Given the description of an element on the screen output the (x, y) to click on. 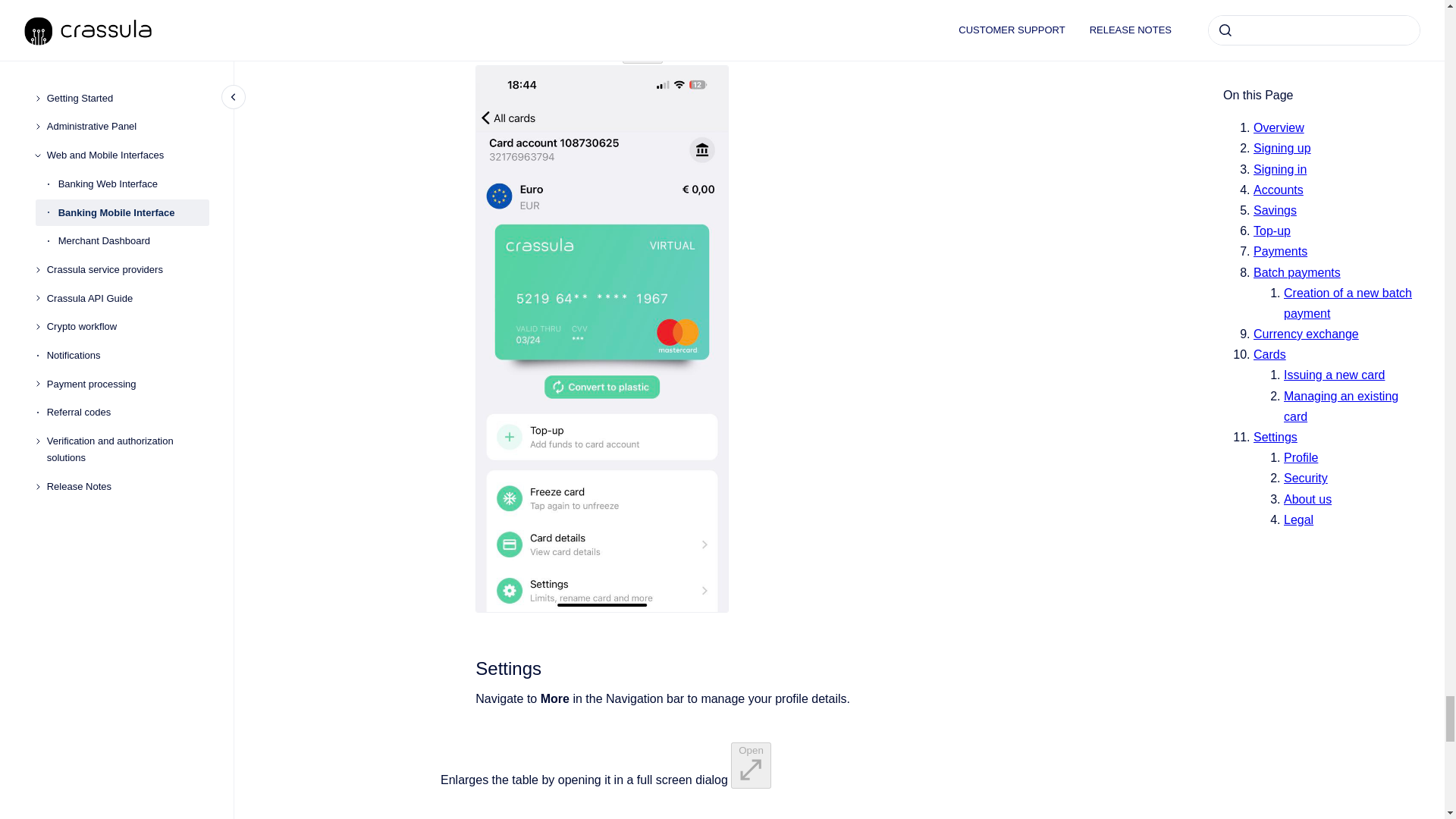
Copy to clipboard (468, 666)
